Given the description of an element on the screen output the (x, y) to click on. 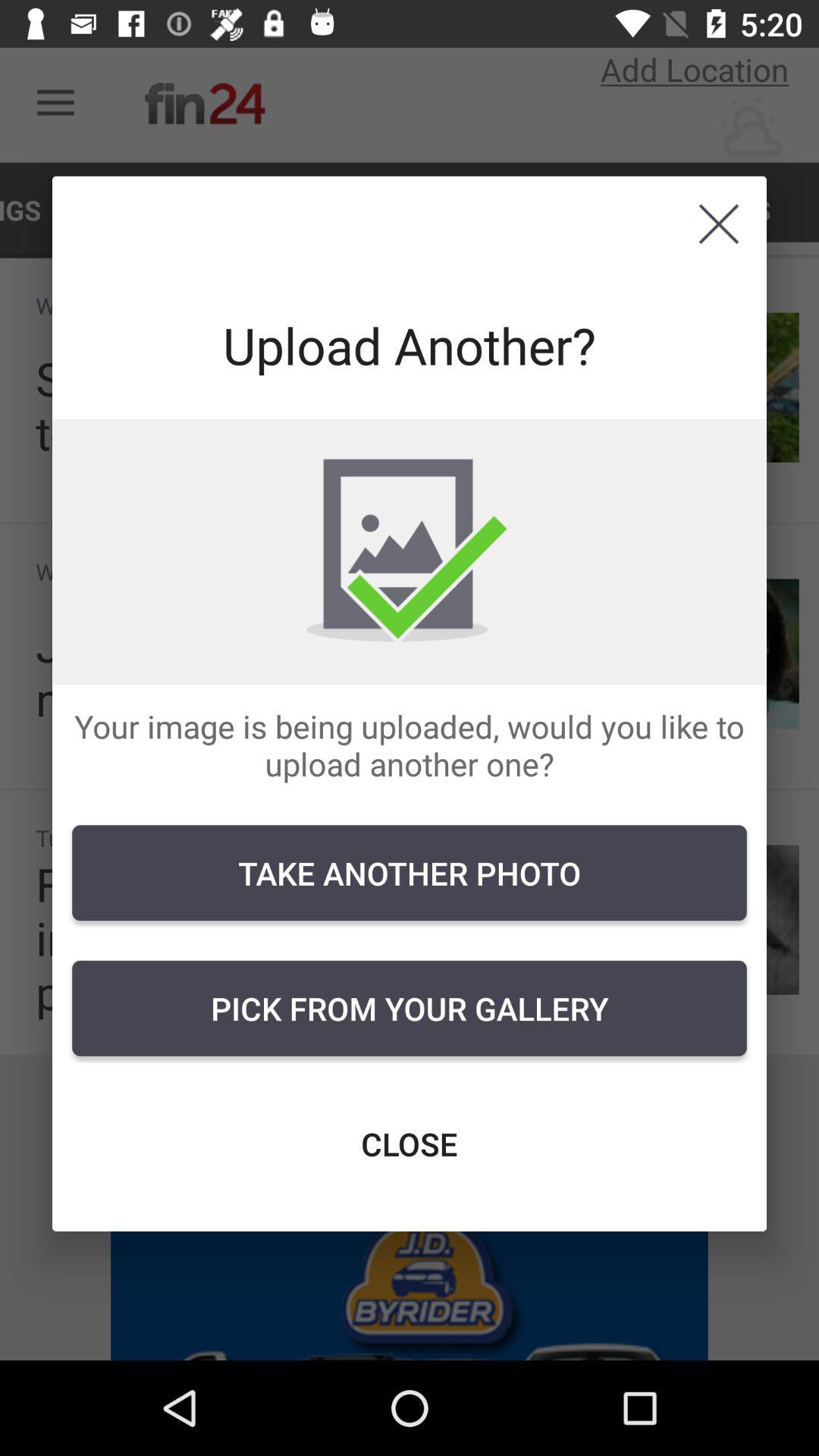
open the take another photo item (409, 872)
